Given the description of an element on the screen output the (x, y) to click on. 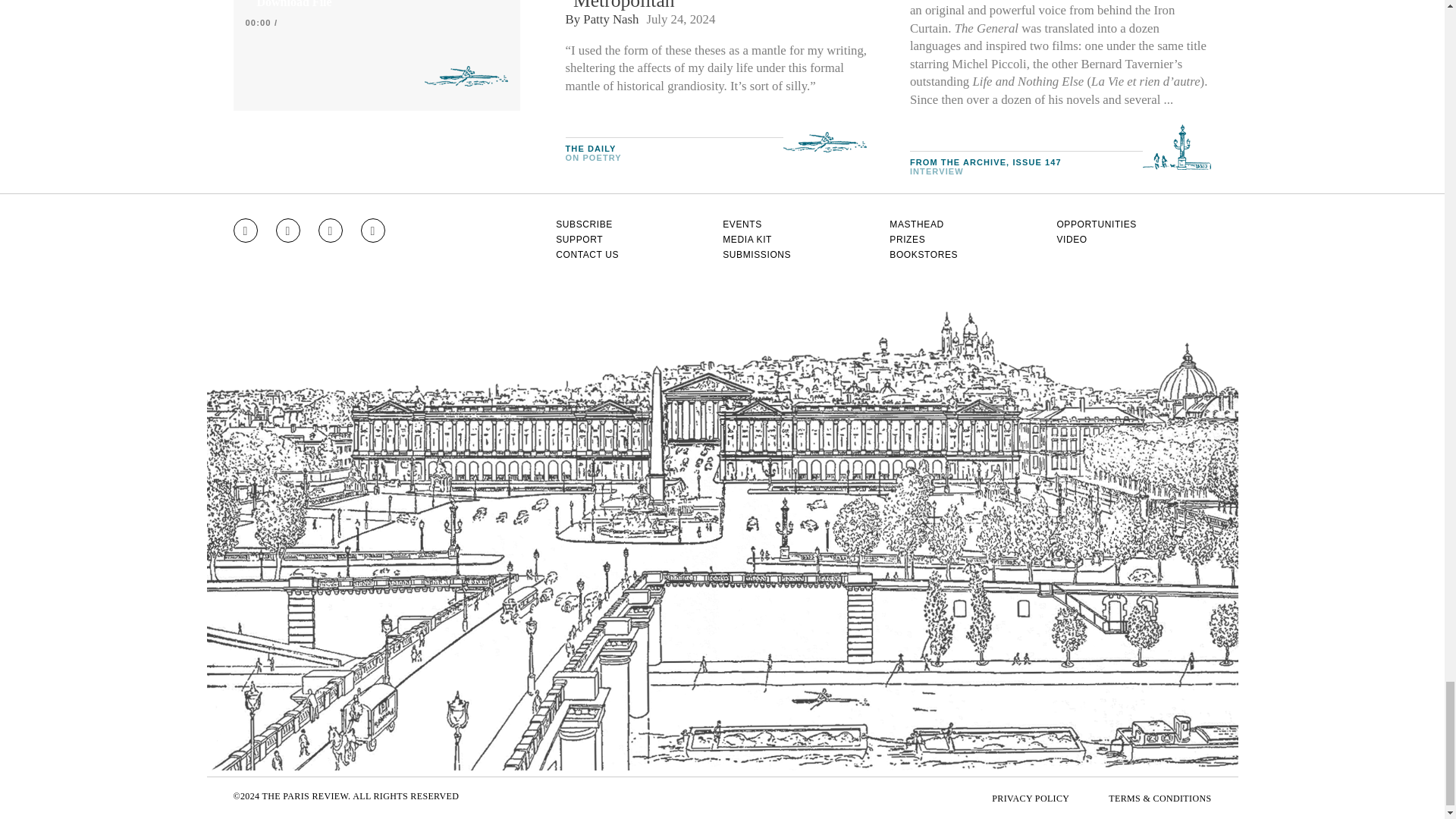
Go to Instagram feed (244, 230)
Go to Twitter feed (330, 230)
Go to Facebook page (287, 230)
Go to RSS feed (373, 230)
